Given the description of an element on the screen output the (x, y) to click on. 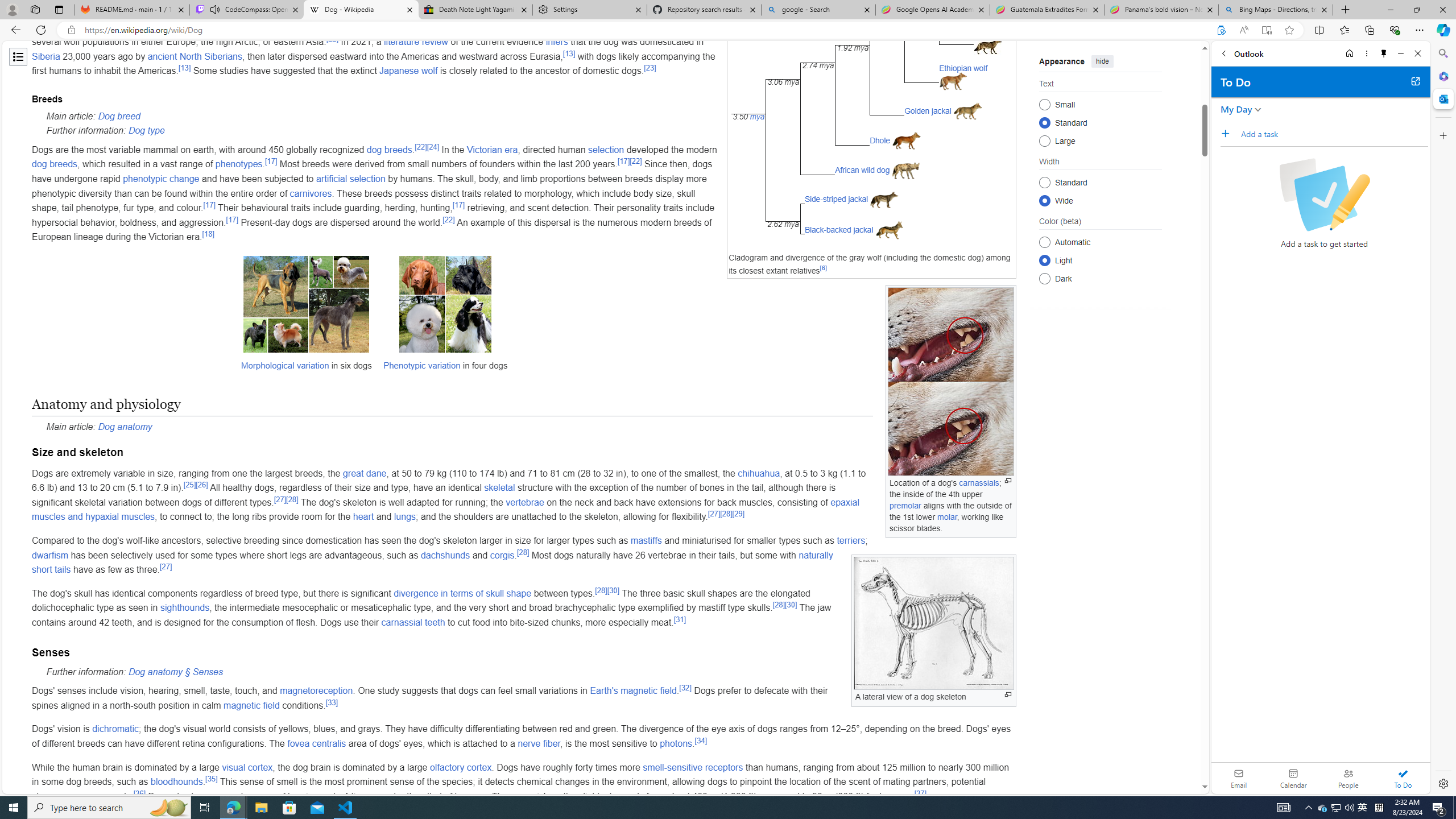
Morphological variation in six dogs (305, 303)
[31] (678, 619)
fovea centralis (316, 743)
Ethiopian wolf (963, 68)
lungs (404, 516)
photons (676, 743)
Phenotypic variation in four dogs (445, 303)
